Given the description of an element on the screen output the (x, y) to click on. 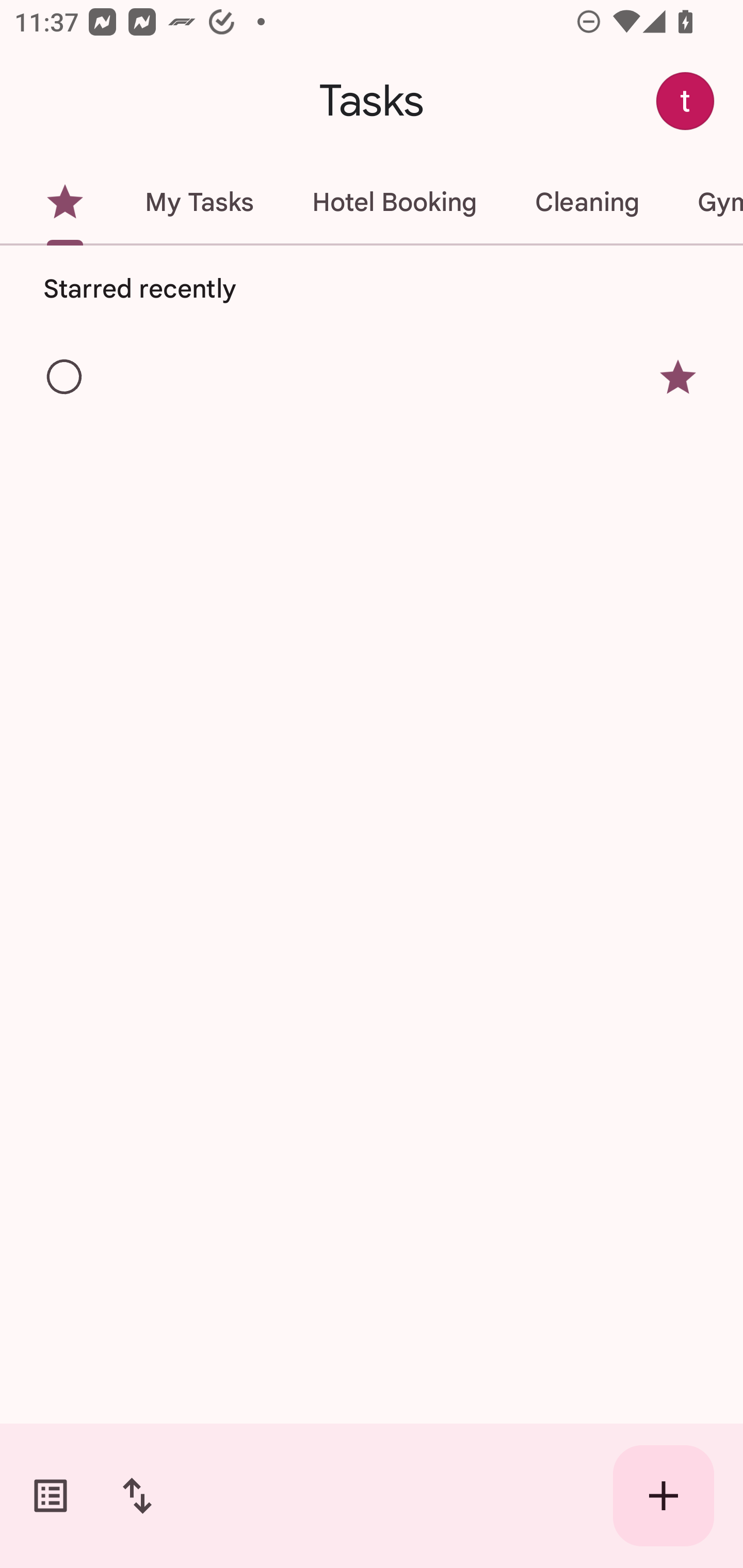
My Tasks (199, 202)
Hotel Booking (394, 202)
Cleaning (586, 202)
Remove star (677, 376)
Mark as complete (64, 377)
Switch task lists (50, 1495)
Create new task (663, 1495)
Change sort order (136, 1495)
